Given the description of an element on the screen output the (x, y) to click on. 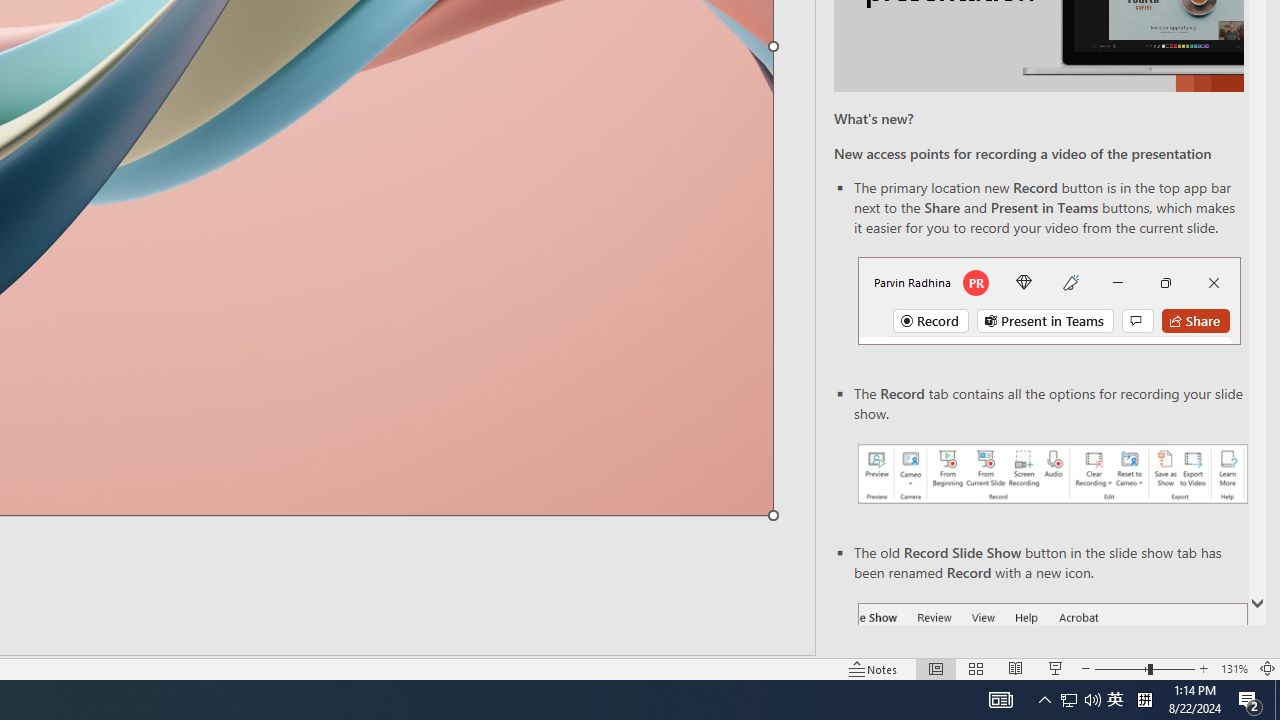
Zoom 131% (1234, 668)
Record your presentations screenshot one (1052, 473)
Zoom (1144, 668)
Normal (936, 668)
Zoom Out (1121, 668)
Reading View (1015, 668)
Zoom to Fit  (1267, 668)
Slide Sorter (975, 668)
Notes  (874, 668)
Slide Show (1055, 668)
Record button in top bar (1049, 300)
Zoom In (1204, 668)
